Given the description of an element on the screen output the (x, y) to click on. 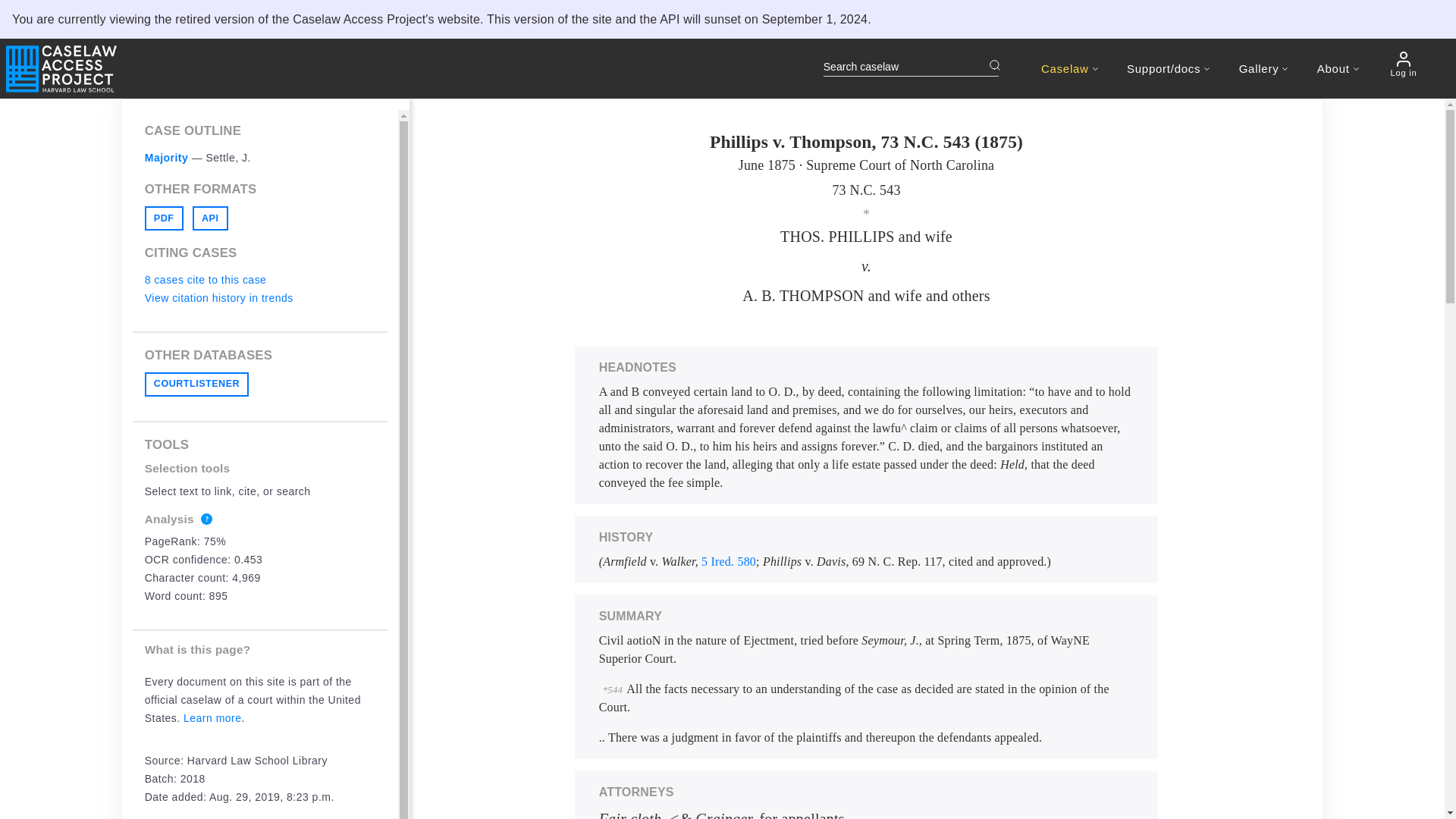
5 Ired. 580 (728, 561)
Caselaw (1069, 68)
PDF (163, 218)
Gallery (1263, 68)
About (1338, 68)
Majority (166, 157)
Log in (1403, 64)
8 cases cite to this case (205, 279)
COURTLISTENER (196, 384)
Learn more (212, 717)
View citation history in trends (219, 297)
API (210, 218)
